Given the description of an element on the screen output the (x, y) to click on. 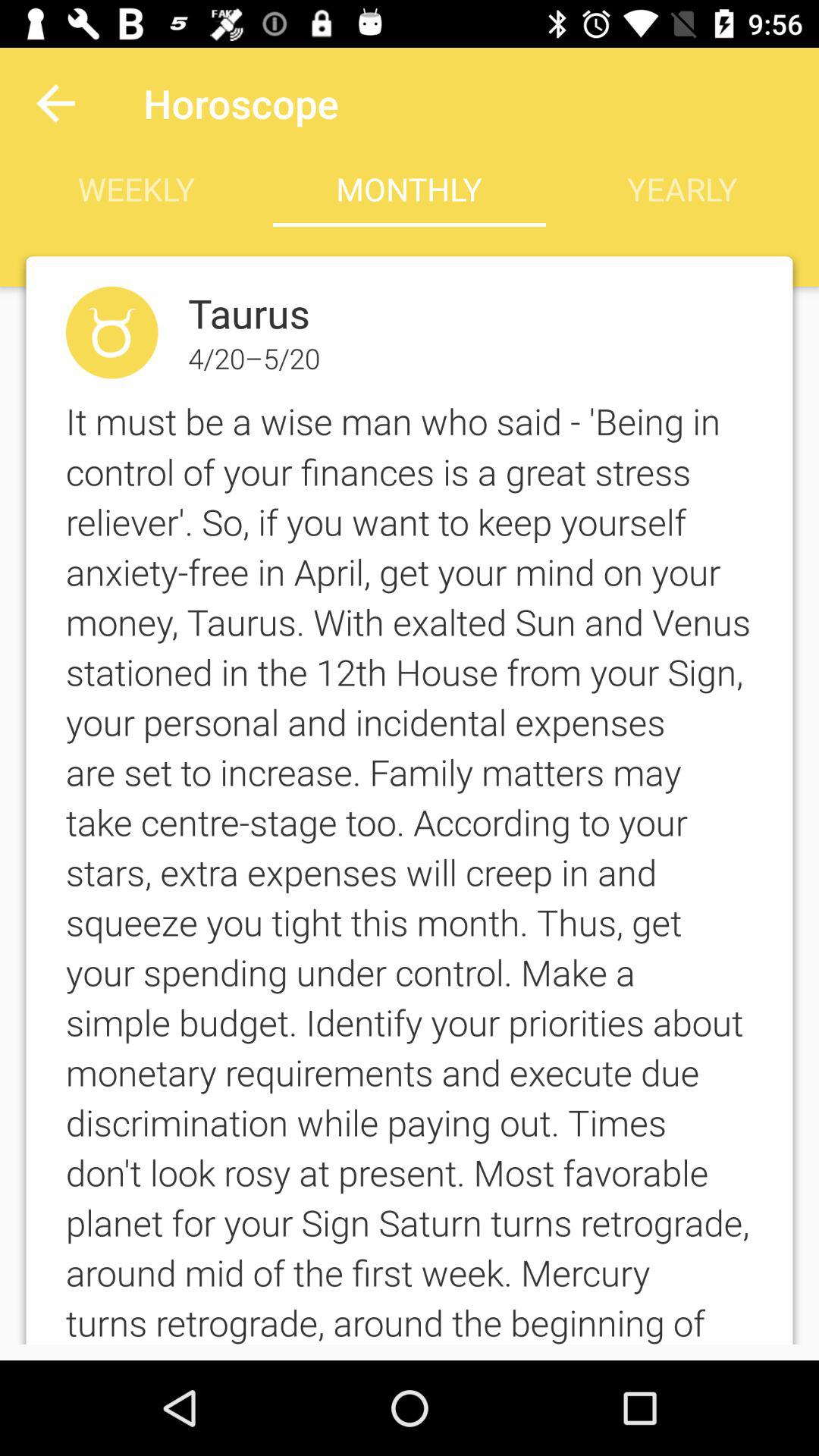
open icon above weekly icon (55, 103)
